Given the description of an element on the screen output the (x, y) to click on. 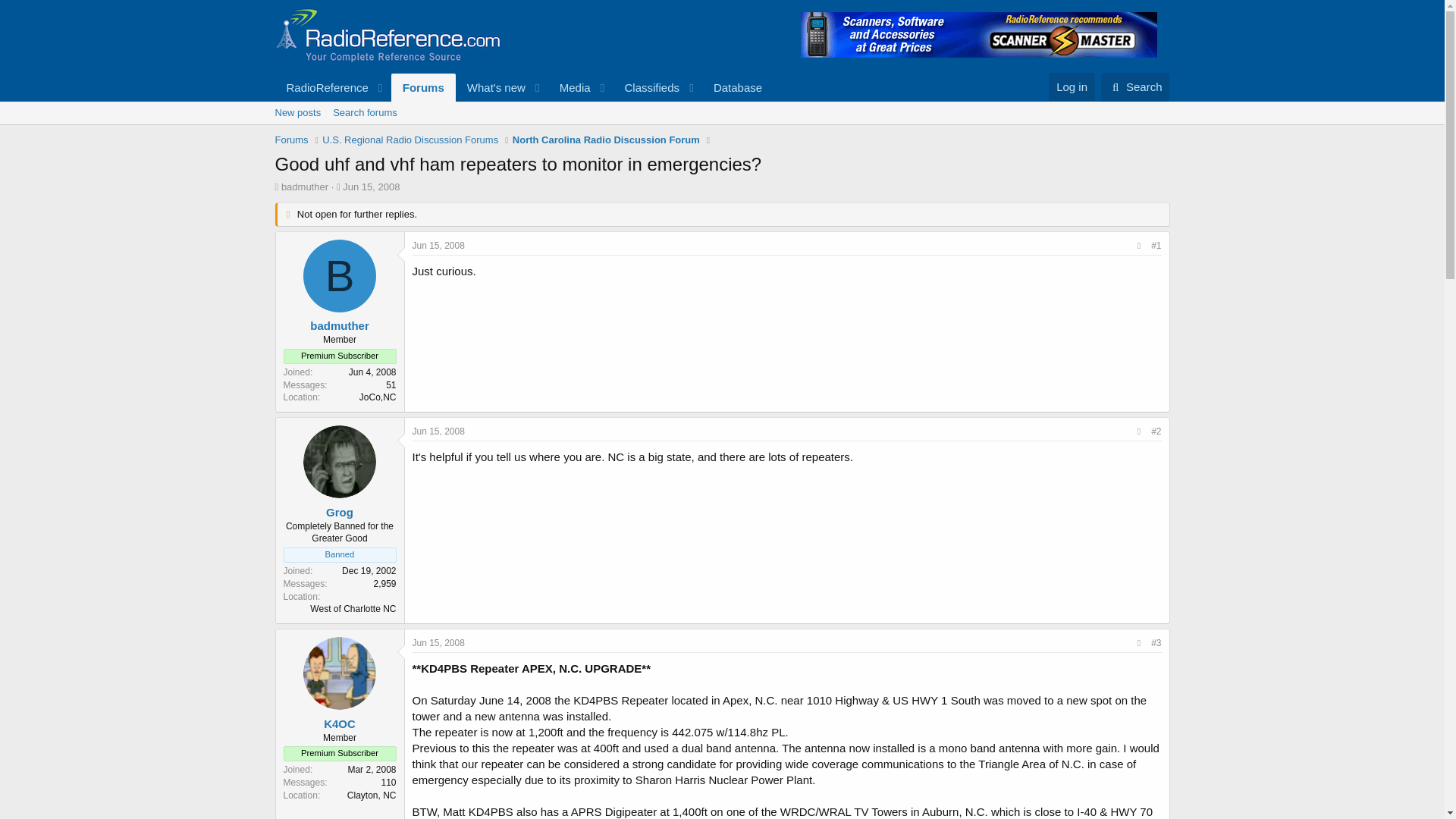
Jun 15, 2008 at 3:10 AM (370, 186)
Log in (1071, 86)
Media (570, 87)
Database (737, 87)
Search (1135, 86)
Search (1135, 86)
What's new (491, 87)
Classifieds (645, 87)
Jun 15, 2008 at 3:10 AM (438, 245)
